Given the description of an element on the screen output the (x, y) to click on. 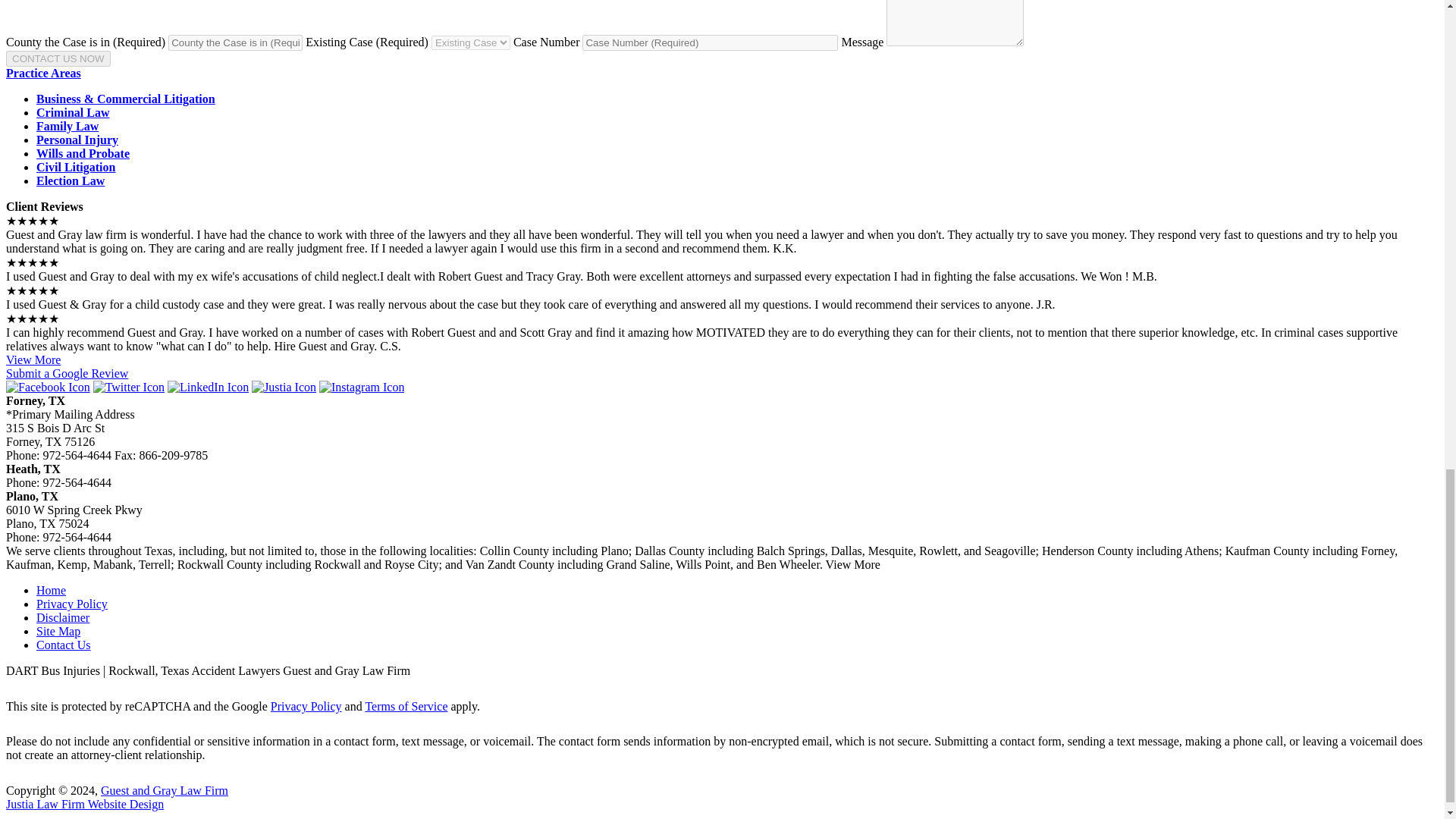
Message (954, 22)
Practice Areas (43, 72)
LinkedIn (207, 386)
Family Law (67, 125)
Submit a Google Review (66, 373)
Criminal Law (72, 112)
View More (33, 359)
CONTACT US NOW (57, 58)
Existing Case (470, 42)
Facebook (47, 386)
